Given the description of an element on the screen output the (x, y) to click on. 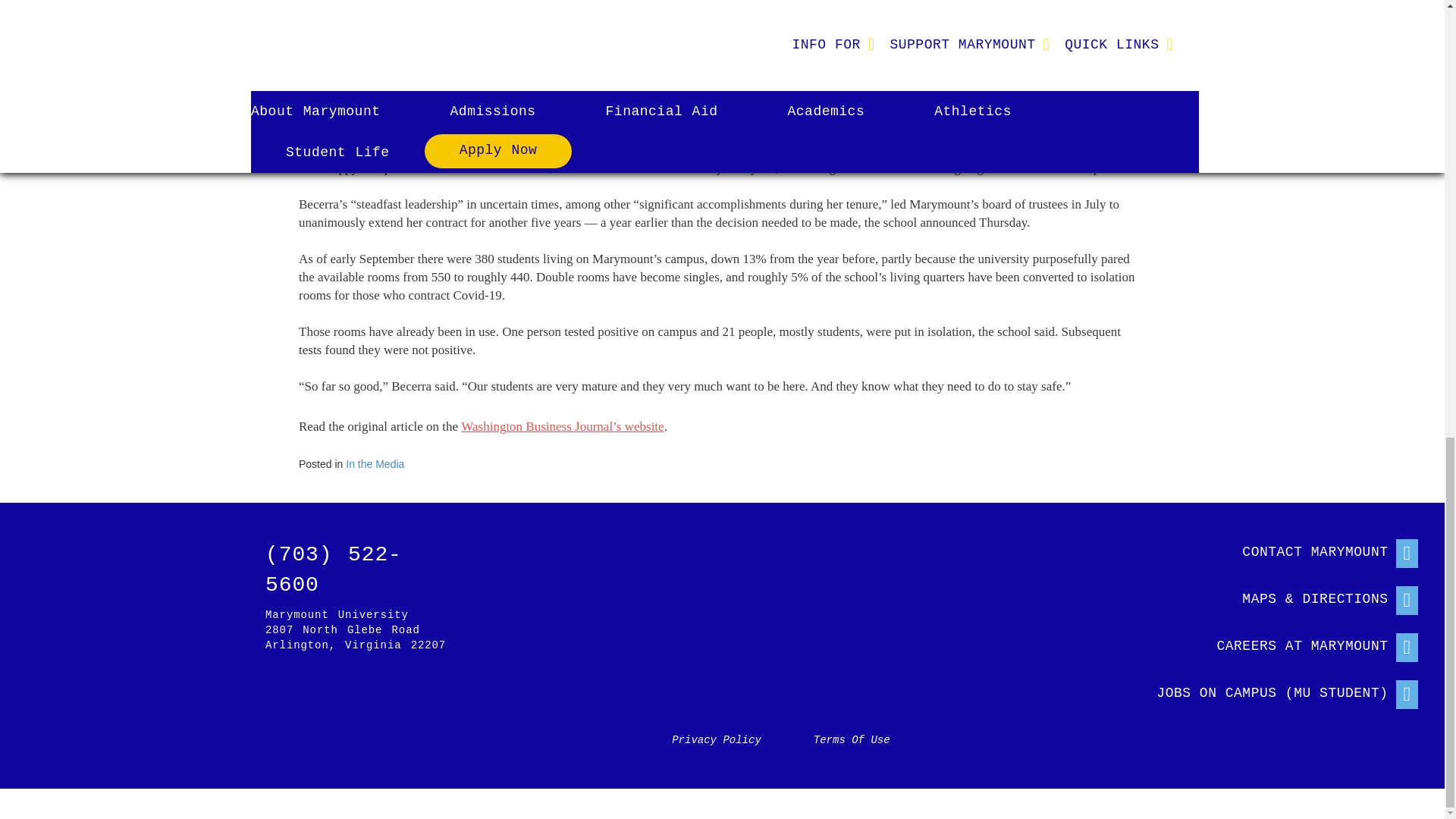
Youtube (322, 691)
Contact Us (1271, 549)
flickr (230, 691)
instagram (90, 691)
linkedin (276, 691)
Careers at MU (1271, 643)
facebook (137, 691)
twitter (183, 691)
